Given the description of an element on the screen output the (x, y) to click on. 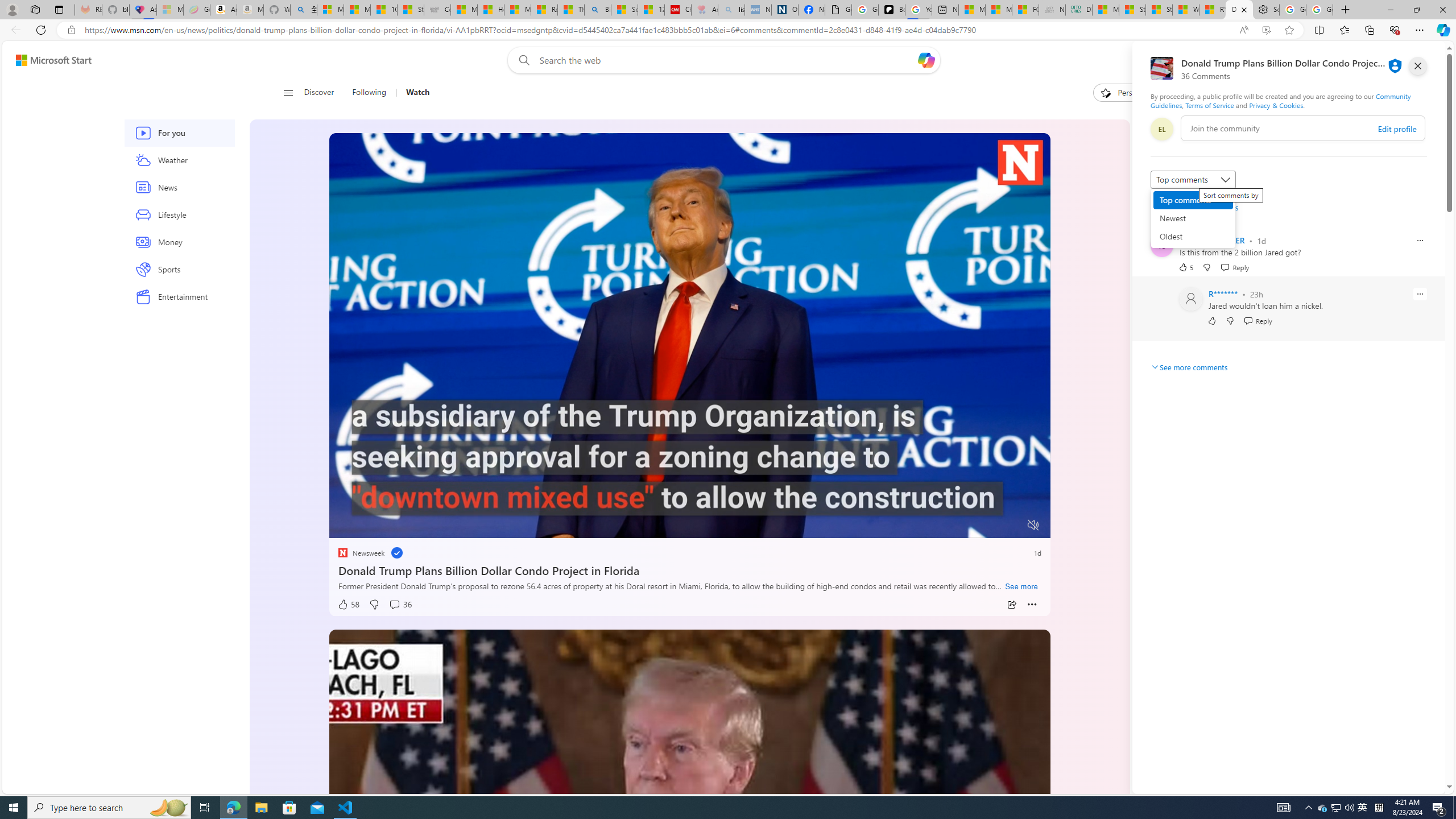
Microsoft-Report a Concern to Bing - Sleeping (169, 9)
Watch (412, 92)
list of asthma inhalers uk - Search - Sleeping (731, 9)
Arthritis: Ask Health Professionals - Sleeping (703, 9)
See more (1021, 586)
Google Analytics Opt-out Browser Add-on Download Page (837, 9)
